Given the description of an element on the screen output the (x, y) to click on. 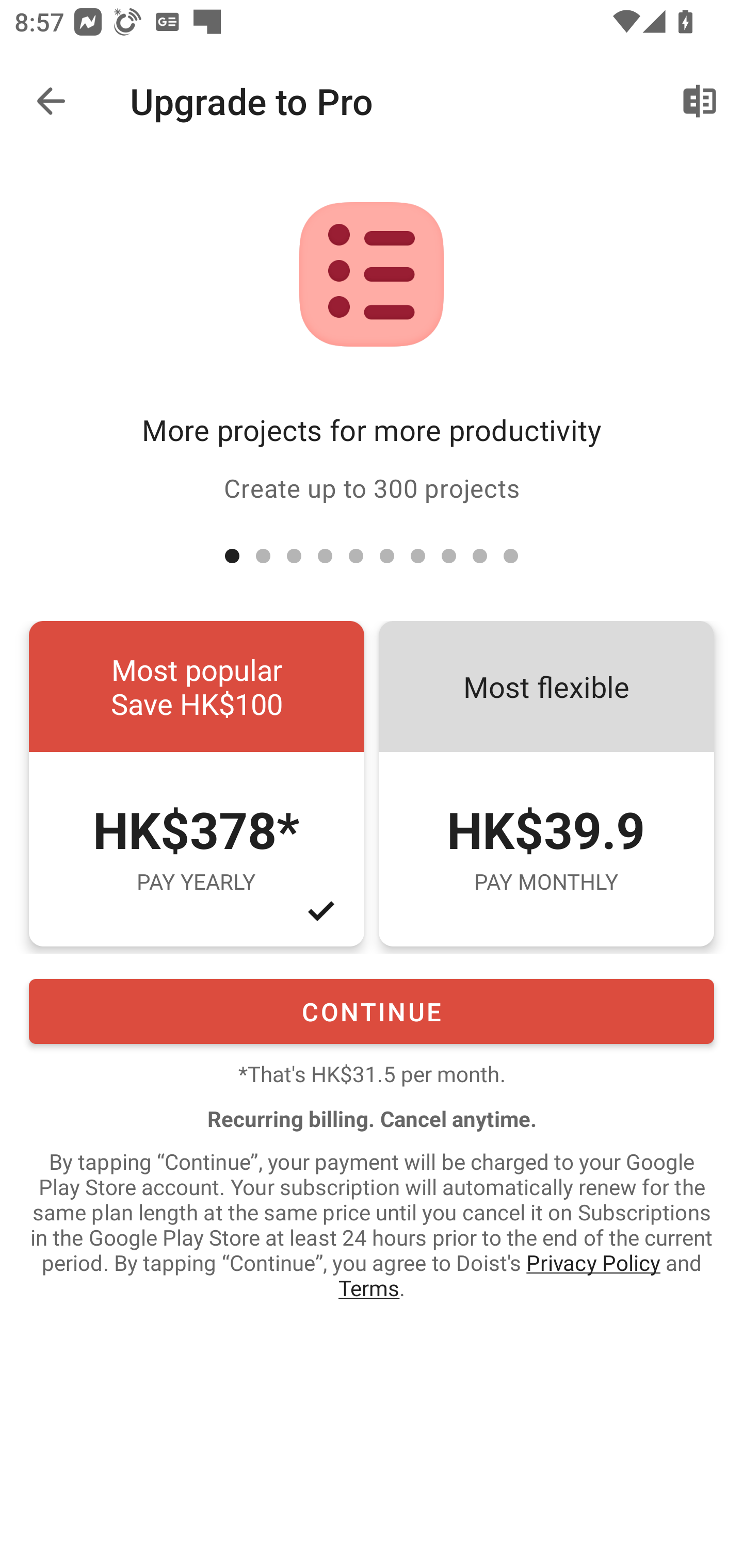
Navigate up (50, 101)
Side by side comparison (699, 101)
Most popular
Save HK$100 HK$378* PAY YEARLY (196, 783)
Most flexible HK$39.9 PAY MONTHLY (546, 783)
CONTINUE (371, 1011)
